Given the description of an element on the screen output the (x, y) to click on. 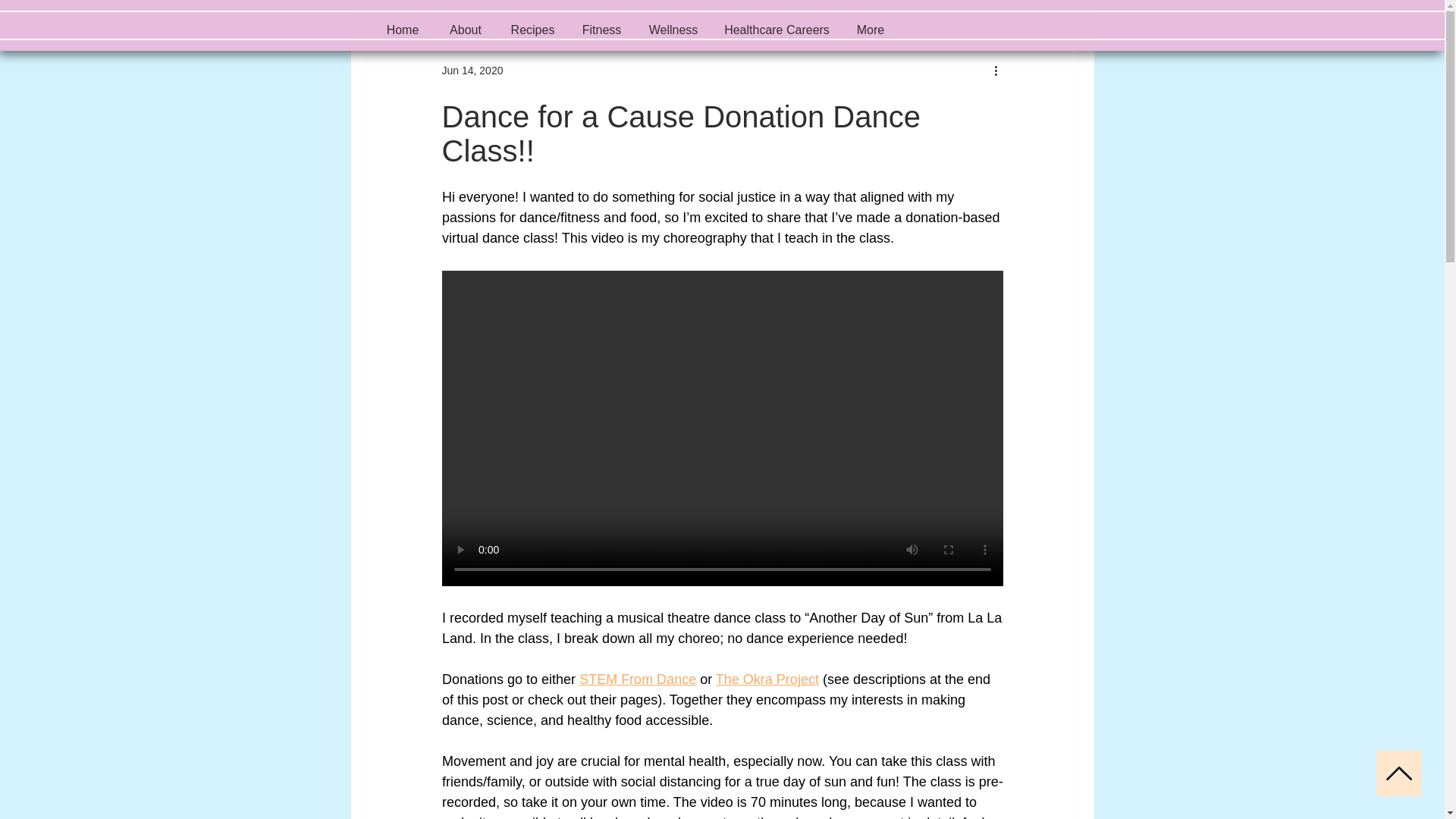
Recipes (533, 30)
Home (402, 30)
Jun 14, 2020 (471, 69)
Wellness (672, 30)
STEM From Dance (637, 679)
Fitness (601, 30)
About (464, 30)
Healthcare Careers (776, 30)
